Given the description of an element on the screen output the (x, y) to click on. 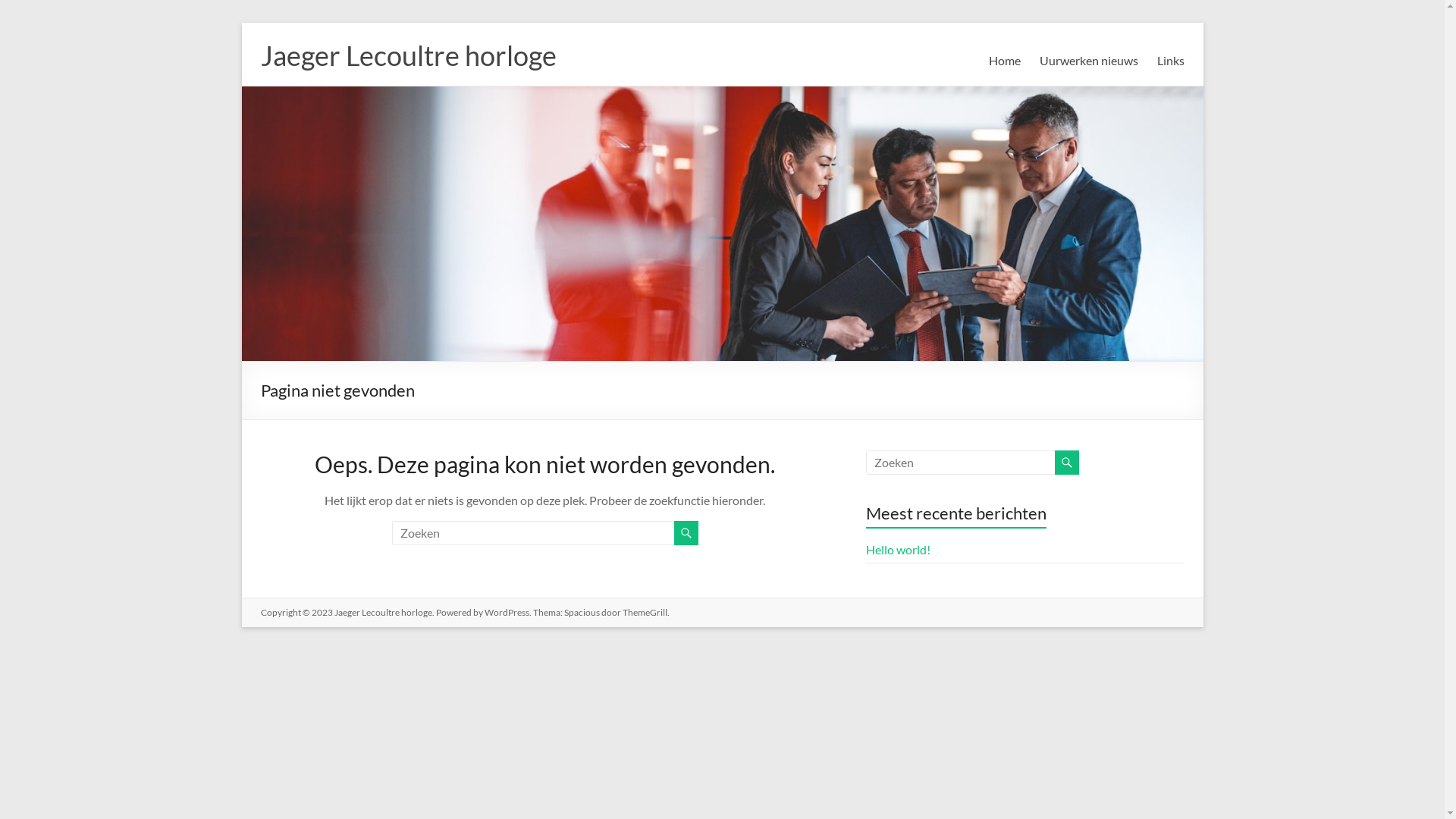
Skip to content Element type: text (241, 21)
Hello world! Element type: text (898, 549)
Links Element type: text (1170, 60)
Uurwerken nieuws Element type: text (1087, 60)
Home Element type: text (1004, 60)
ThemeGrill Element type: text (643, 612)
Jaeger Lecoultre horloge Element type: text (382, 612)
WordPress Element type: text (505, 612)
Jaeger Lecoultre horloge Element type: text (408, 55)
